Given the description of an element on the screen output the (x, y) to click on. 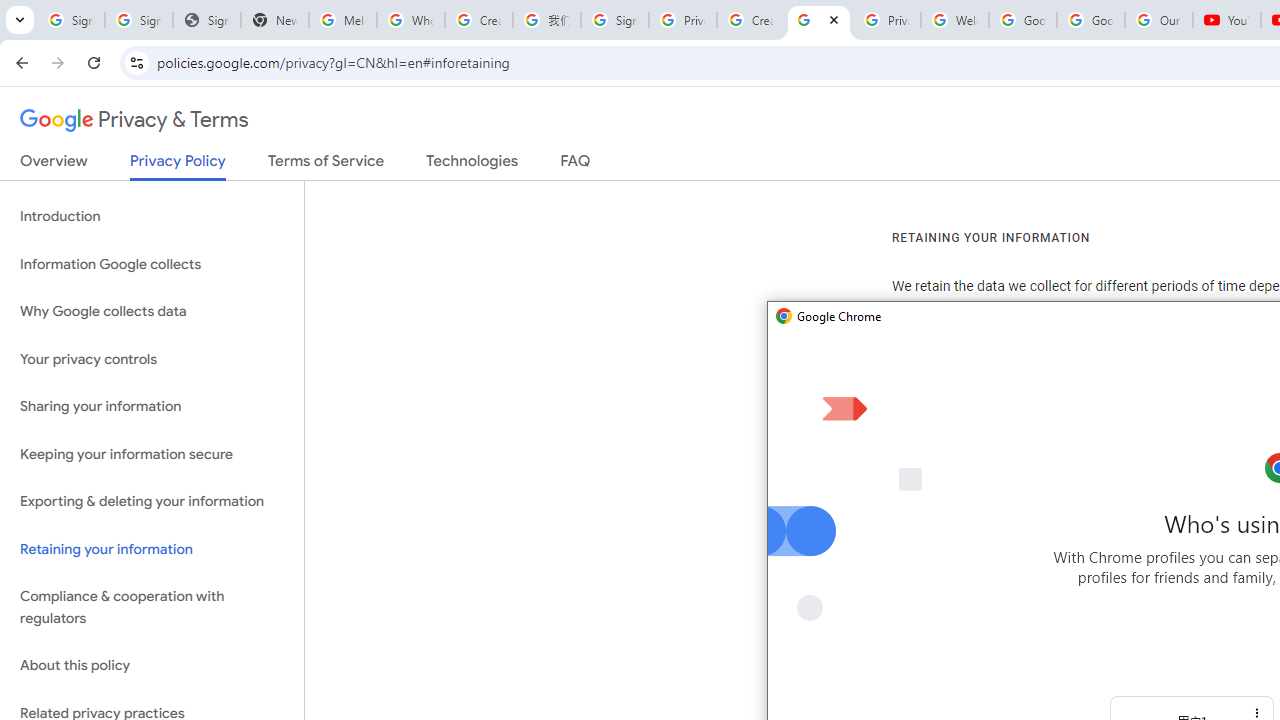
Create your Google Account (479, 20)
Why Google collects data (152, 312)
YouTube (1226, 20)
Exporting & deleting your information (152, 502)
Sign in - Google Accounts (138, 20)
About this policy (152, 666)
Information Google collects (152, 263)
